Given the description of an element on the screen output the (x, y) to click on. 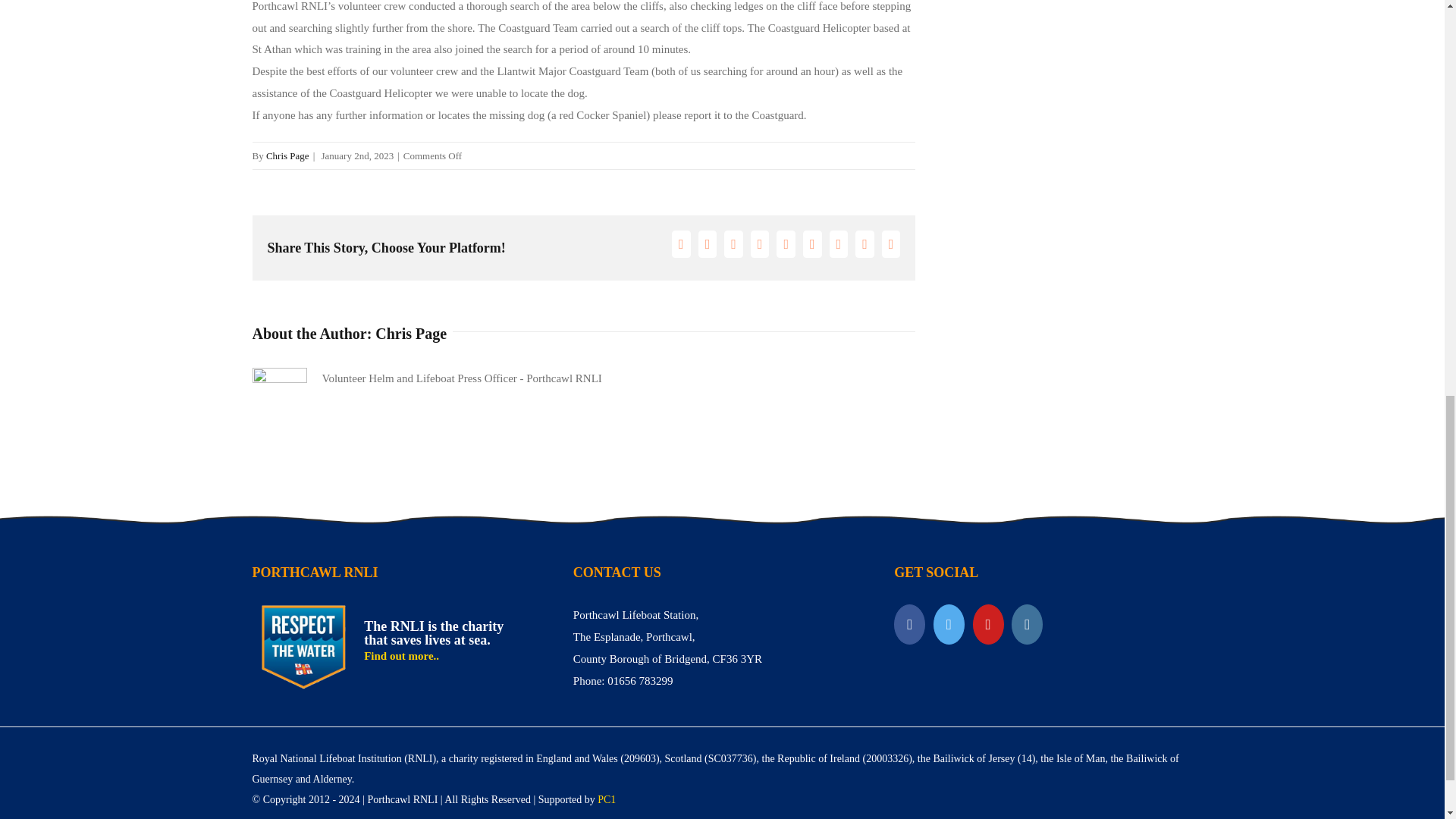
Posts by Chris Page (287, 155)
Posts by Chris Page (410, 333)
Chris Page (287, 155)
